Given the description of an element on the screen output the (x, y) to click on. 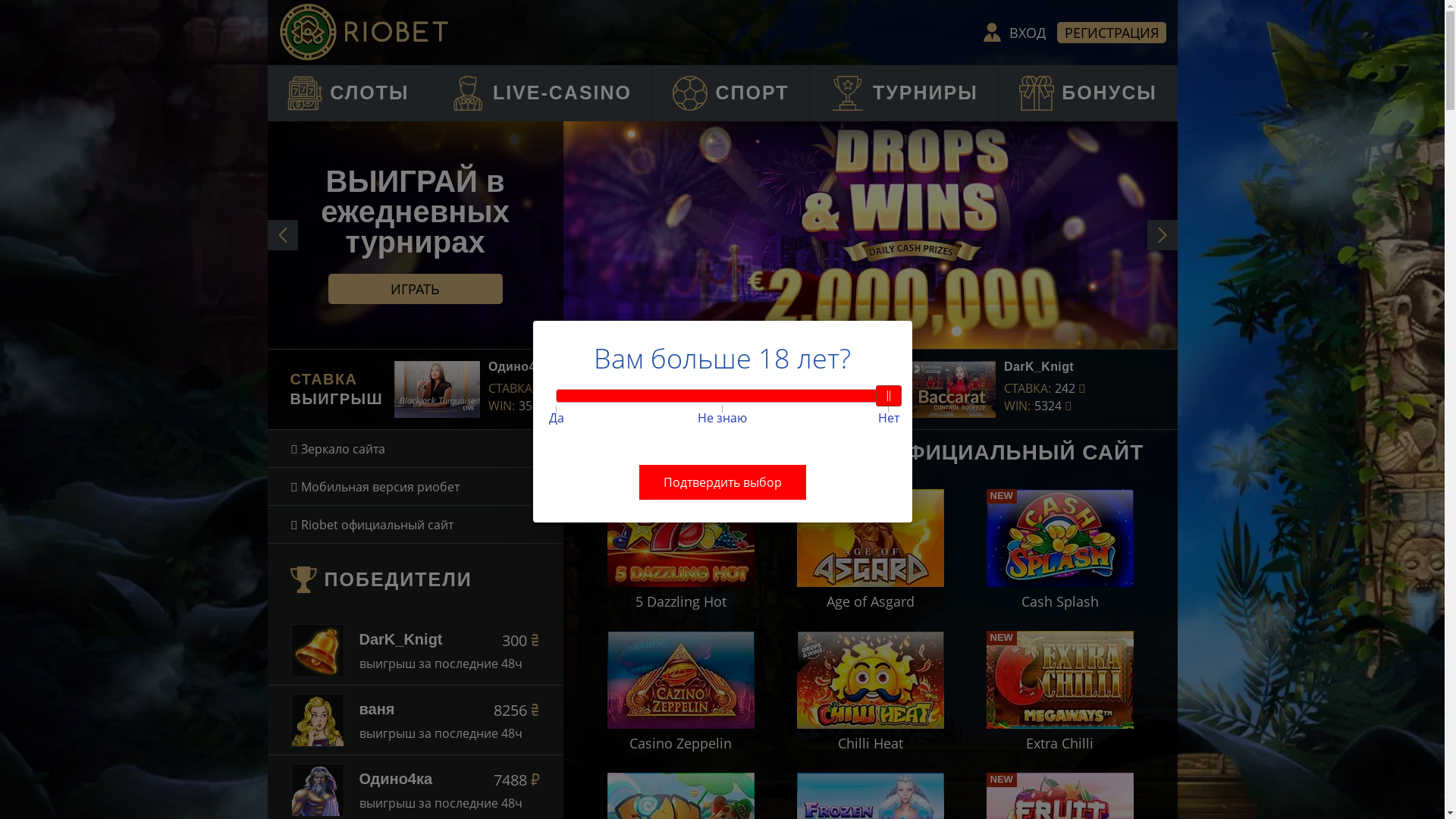
LIVE-CASINO Element type: text (540, 93)
Previous Element type: text (281, 234)
Next Element type: text (1161, 234)
